Given the description of an element on the screen output the (x, y) to click on. 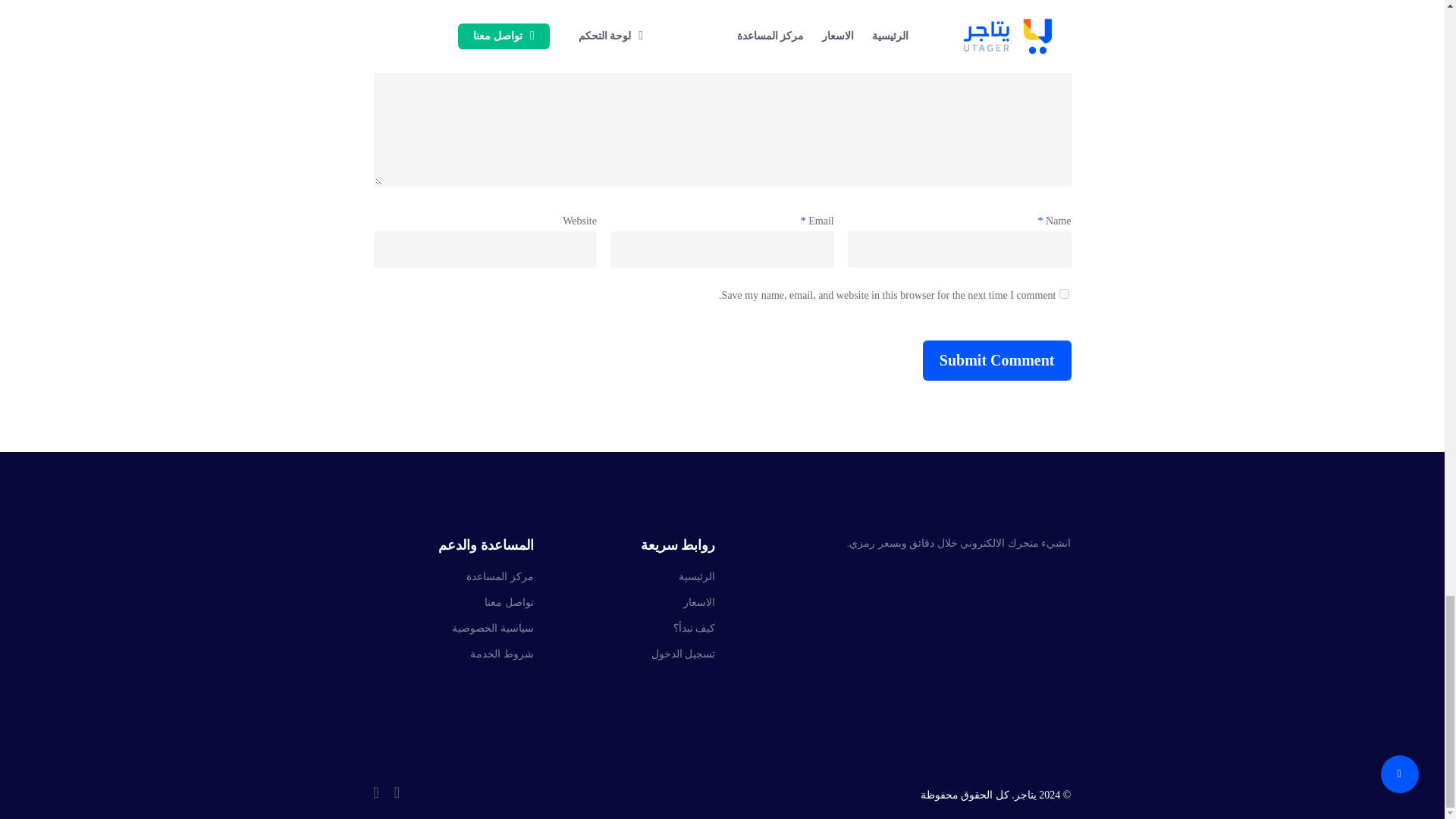
yes (1063, 293)
Submit Comment (997, 360)
Submit Comment (997, 360)
